Given the description of an element on the screen output the (x, y) to click on. 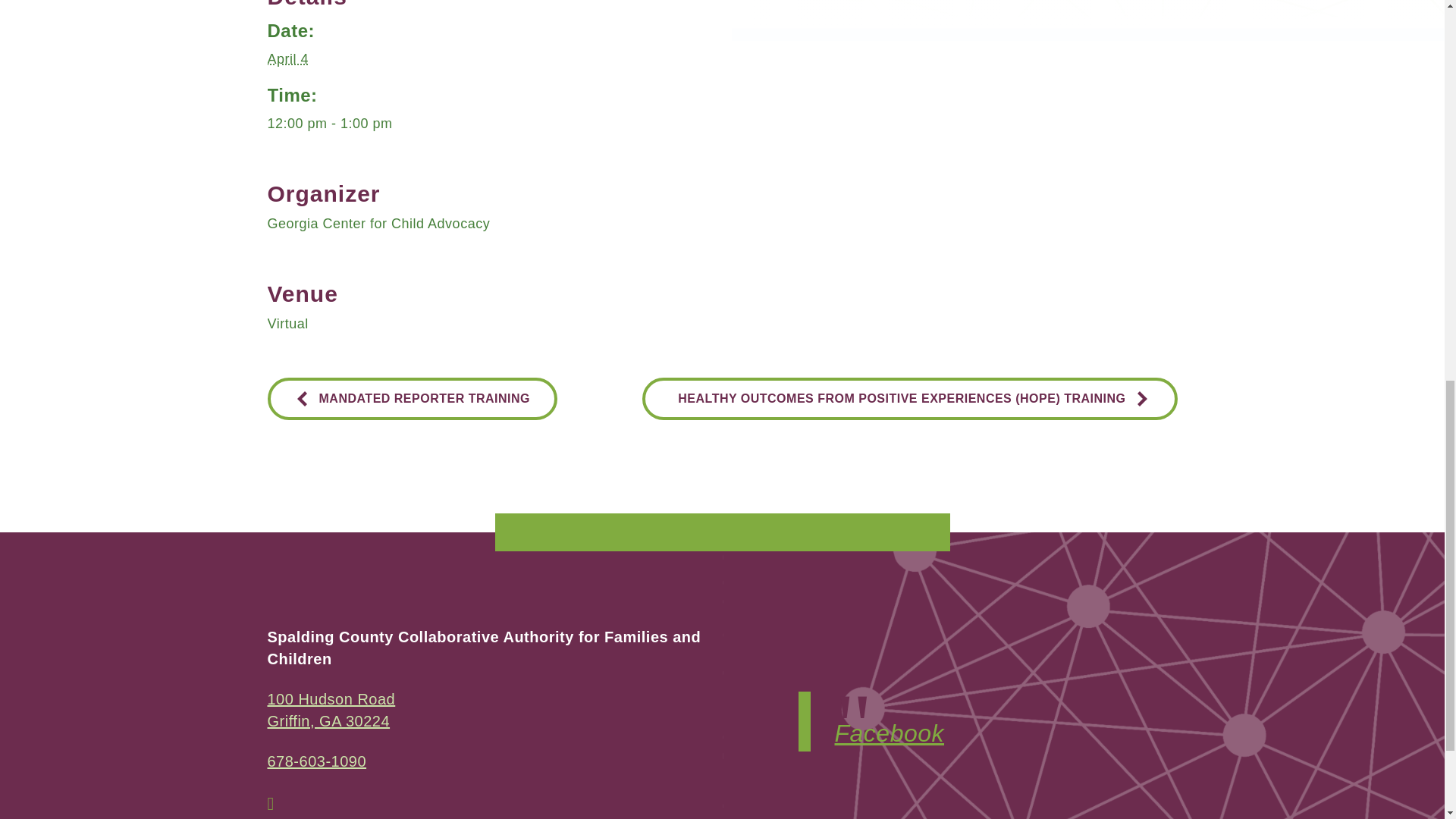
Facebook (888, 732)
2024-04-04 (721, 123)
MANDATED REPORTER TRAINING (330, 710)
678-603-1090 (411, 398)
2024-04-04 (316, 760)
